Given the description of an element on the screen output the (x, y) to click on. 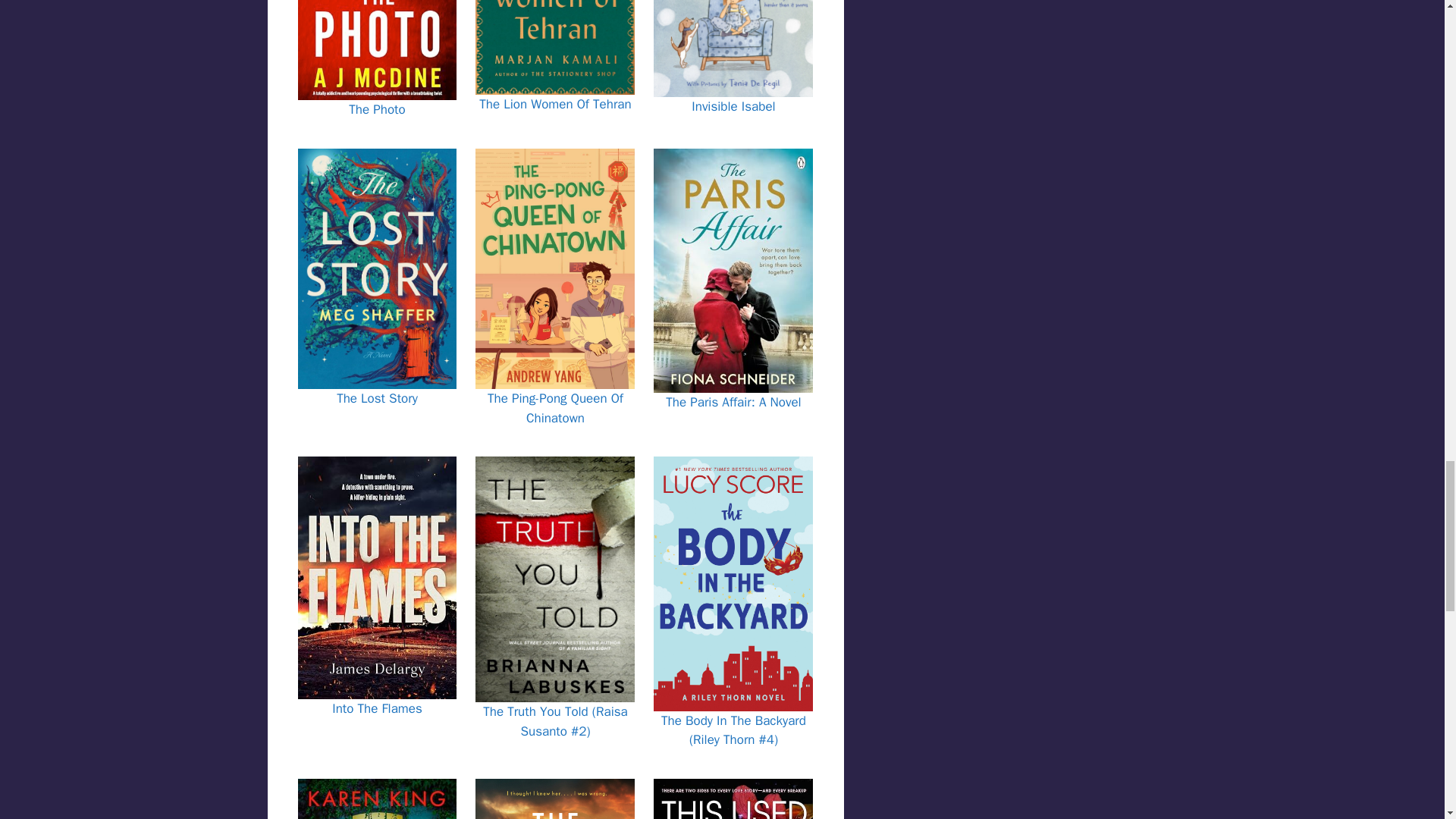
The Photo (376, 109)
